Given the description of an element on the screen output the (x, y) to click on. 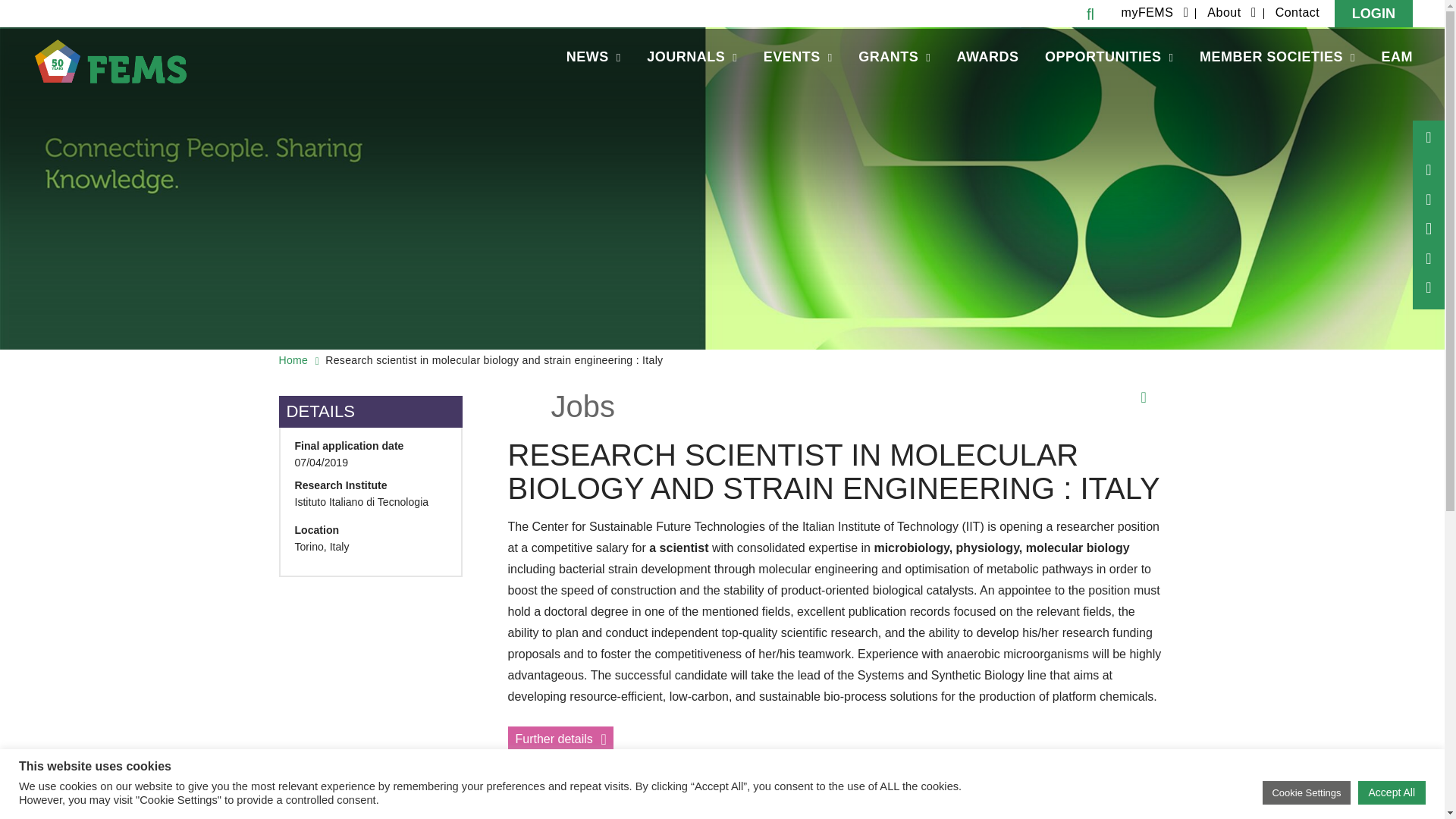
OPPORTUNITIES (1109, 56)
JOURNALS (691, 56)
AWARDS (987, 56)
NEWS (592, 56)
GRANTS (894, 56)
EVENTS (798, 56)
